Given the description of an element on the screen output the (x, y) to click on. 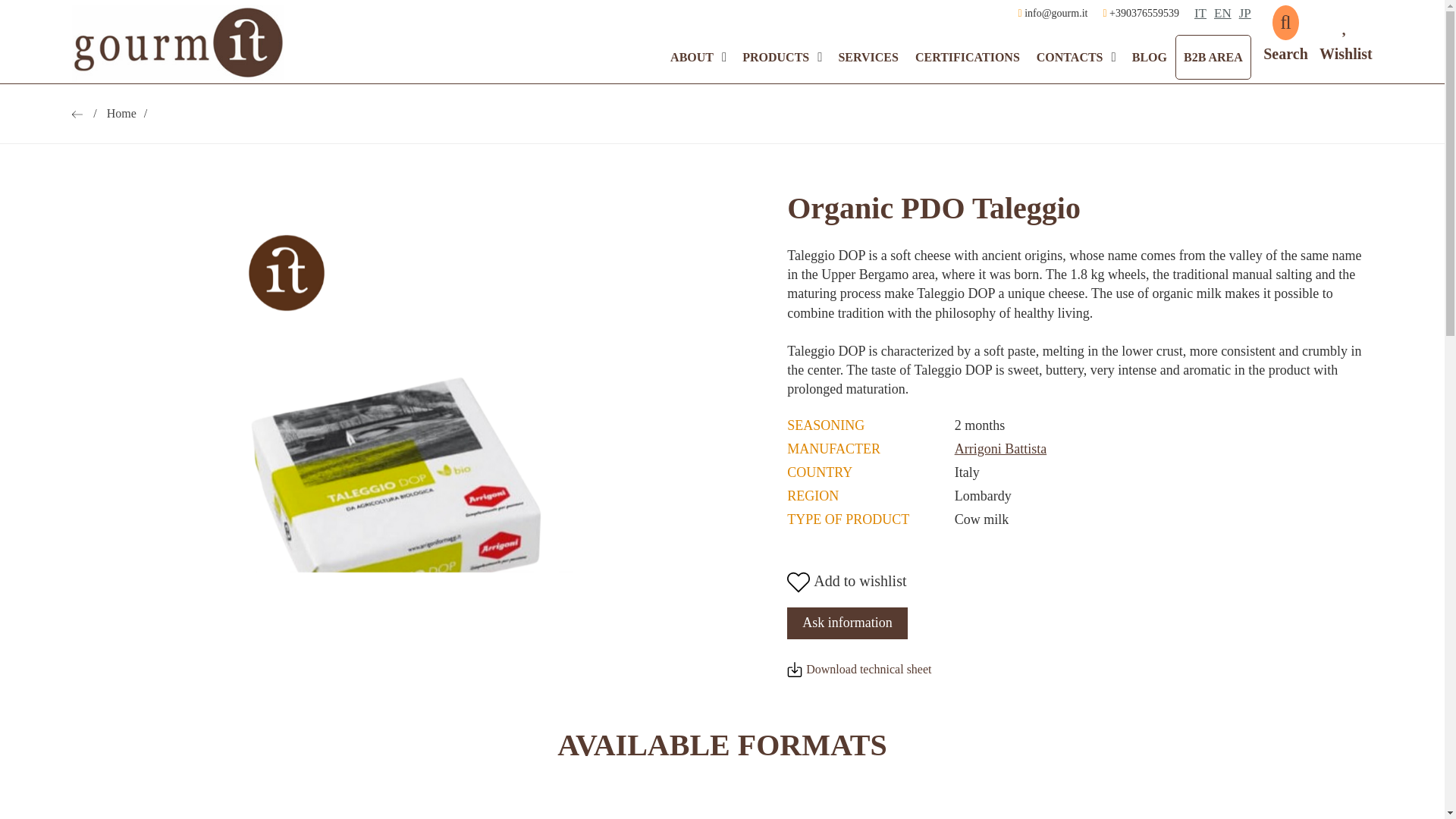
CERTIFICATIONS (967, 57)
BLOG (1149, 57)
PRODUCTS (774, 57)
Arrigoni Battista (1000, 448)
CONTACTS (1069, 57)
Home (127, 113)
ABOUT (692, 57)
SERVICES (867, 57)
B2B AREA (1212, 57)
